Given the description of an element on the screen output the (x, y) to click on. 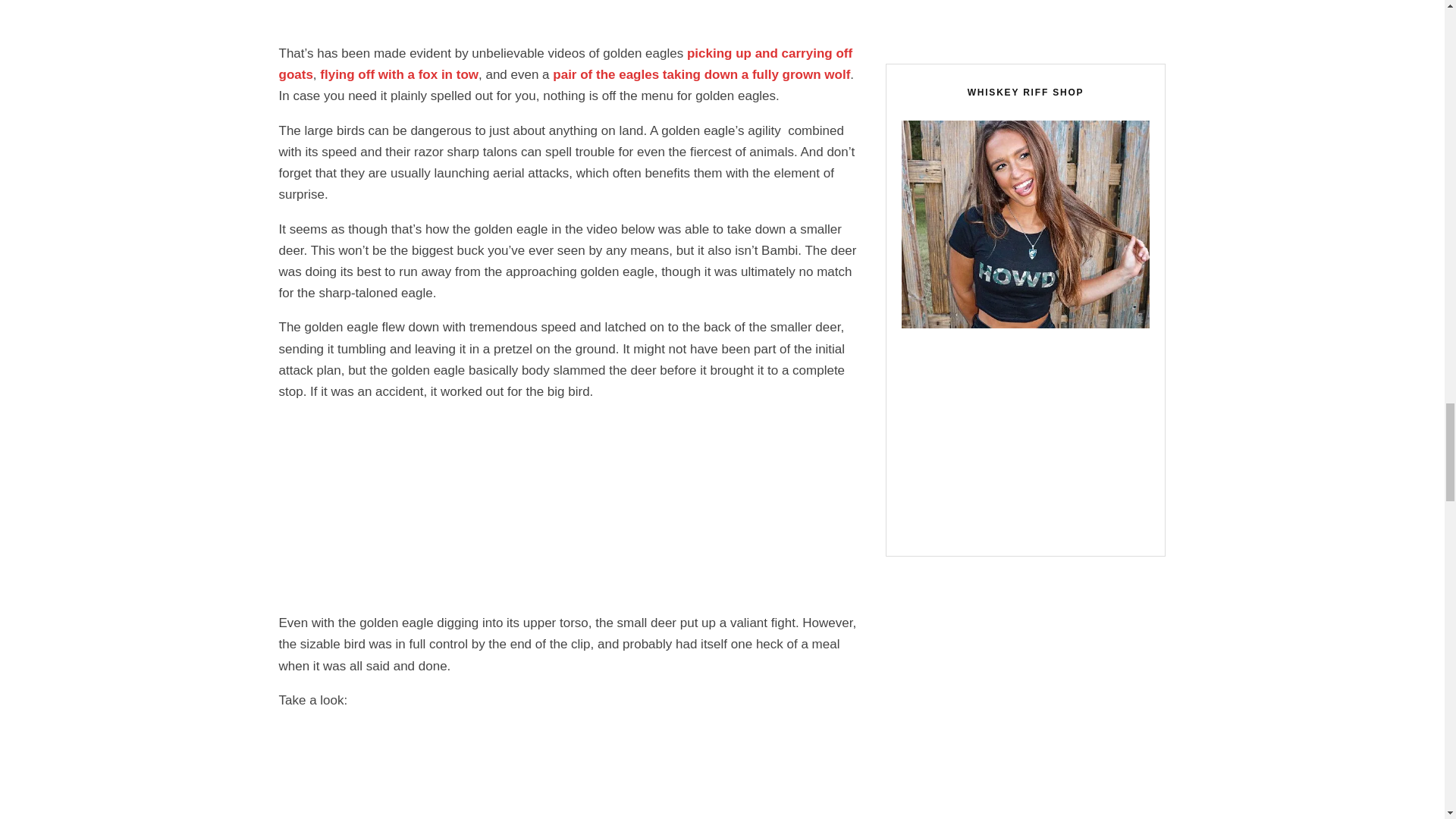
golden eagle catches deer (571, 771)
